Given the description of an element on the screen output the (x, y) to click on. 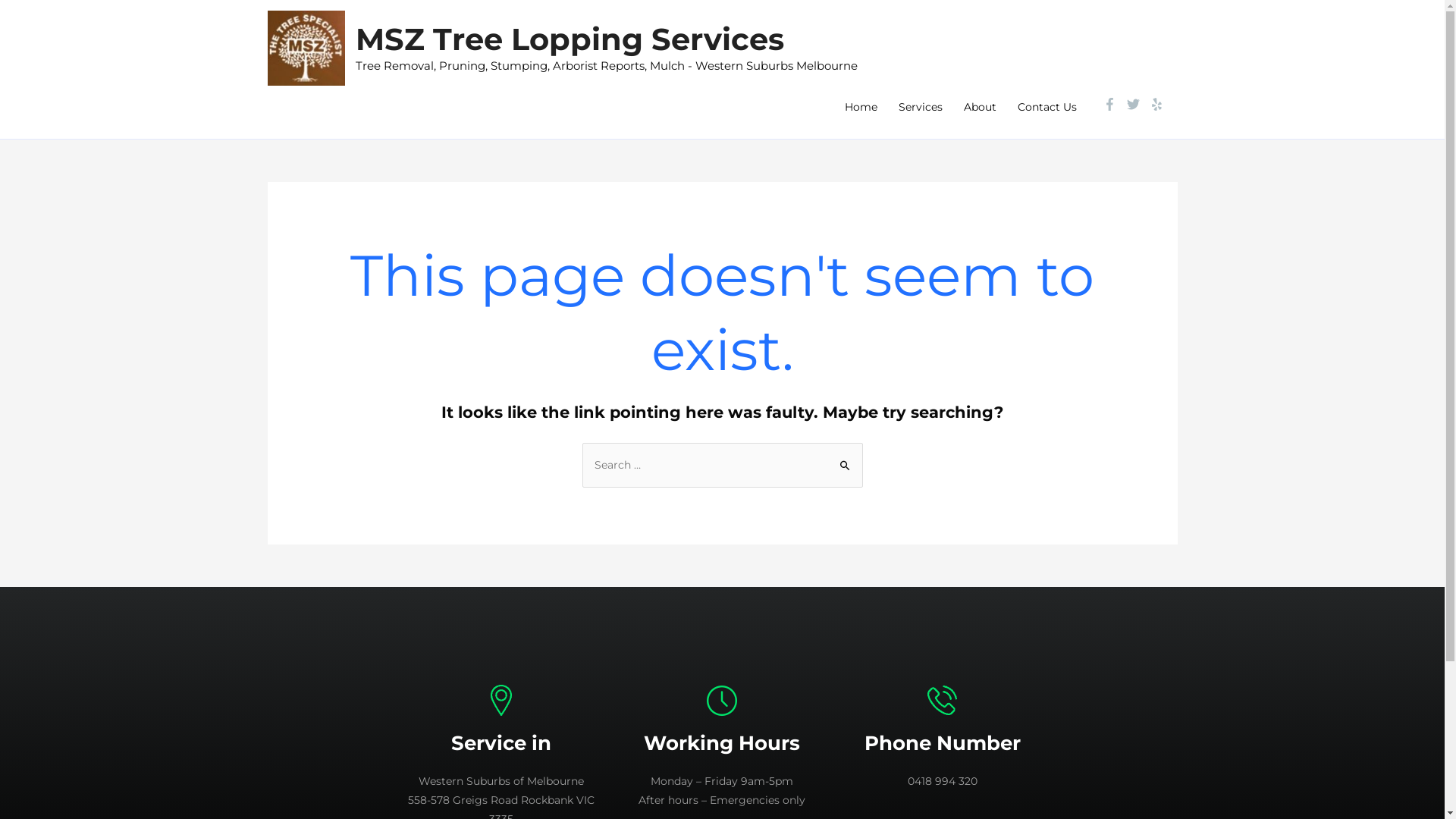
About Element type: text (979, 106)
Contact Us Element type: text (1047, 106)
Home Element type: text (861, 106)
Services Element type: text (919, 106)
MSZ Tree Lopping Services Element type: text (568, 38)
Search Element type: text (845, 458)
